Given the description of an element on the screen output the (x, y) to click on. 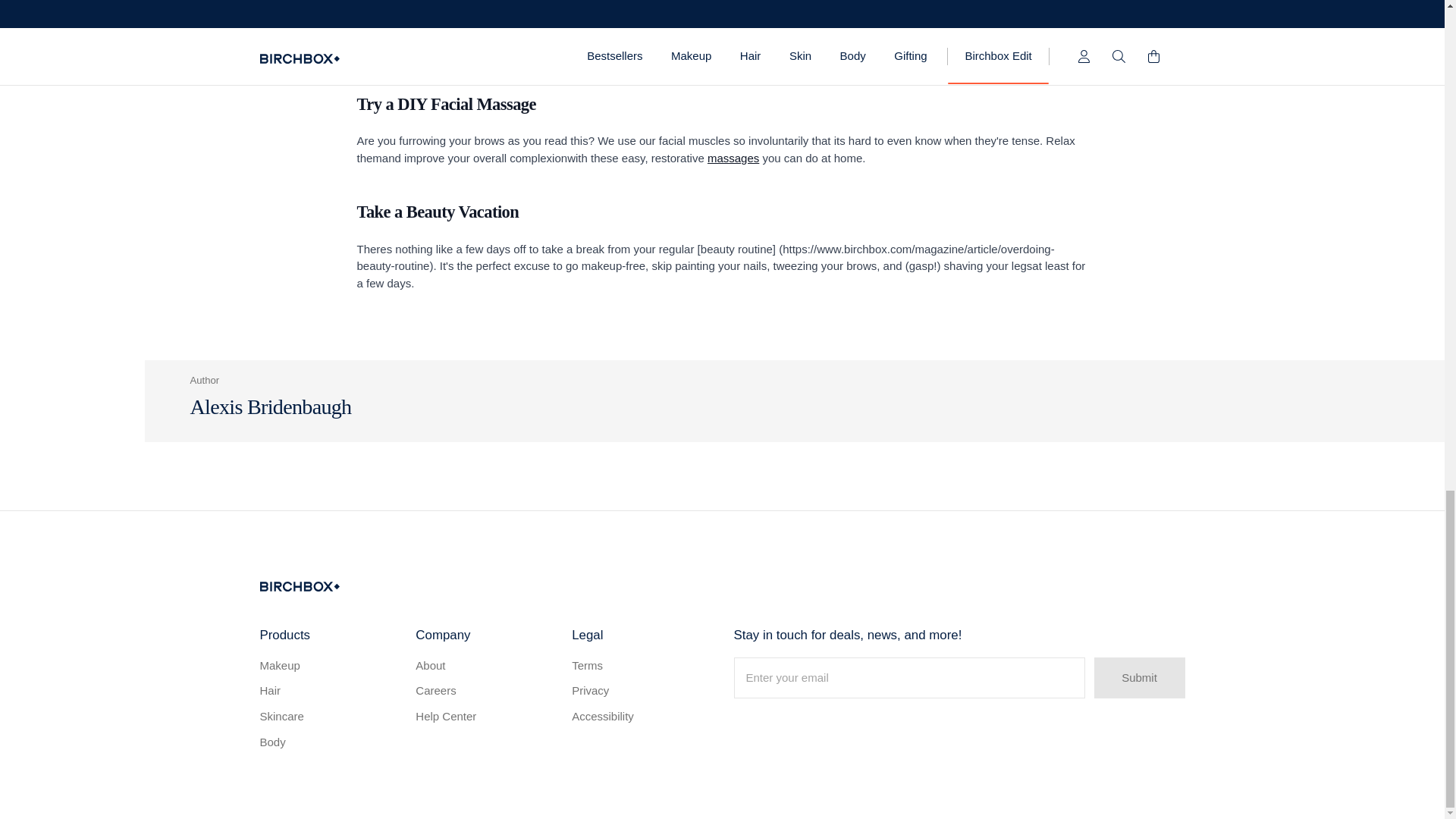
Birchbox (299, 586)
Body (328, 742)
massages (732, 157)
About (484, 665)
Makeup (328, 665)
Hair (328, 691)
moisturizing mask (713, 41)
Skincare (328, 716)
